Given the description of an element on the screen output the (x, y) to click on. 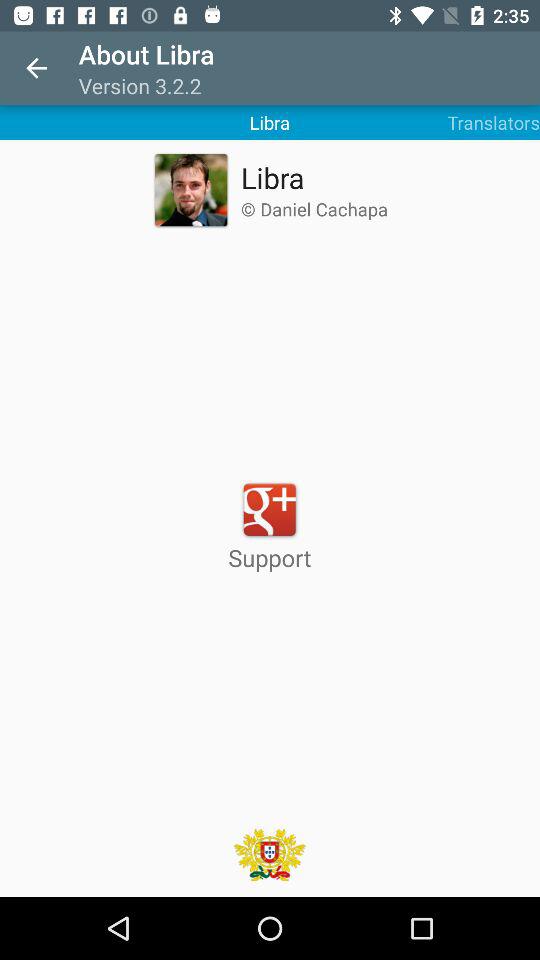
open the item next to version 3 2 icon (36, 68)
